Given the description of an element on the screen output the (x, y) to click on. 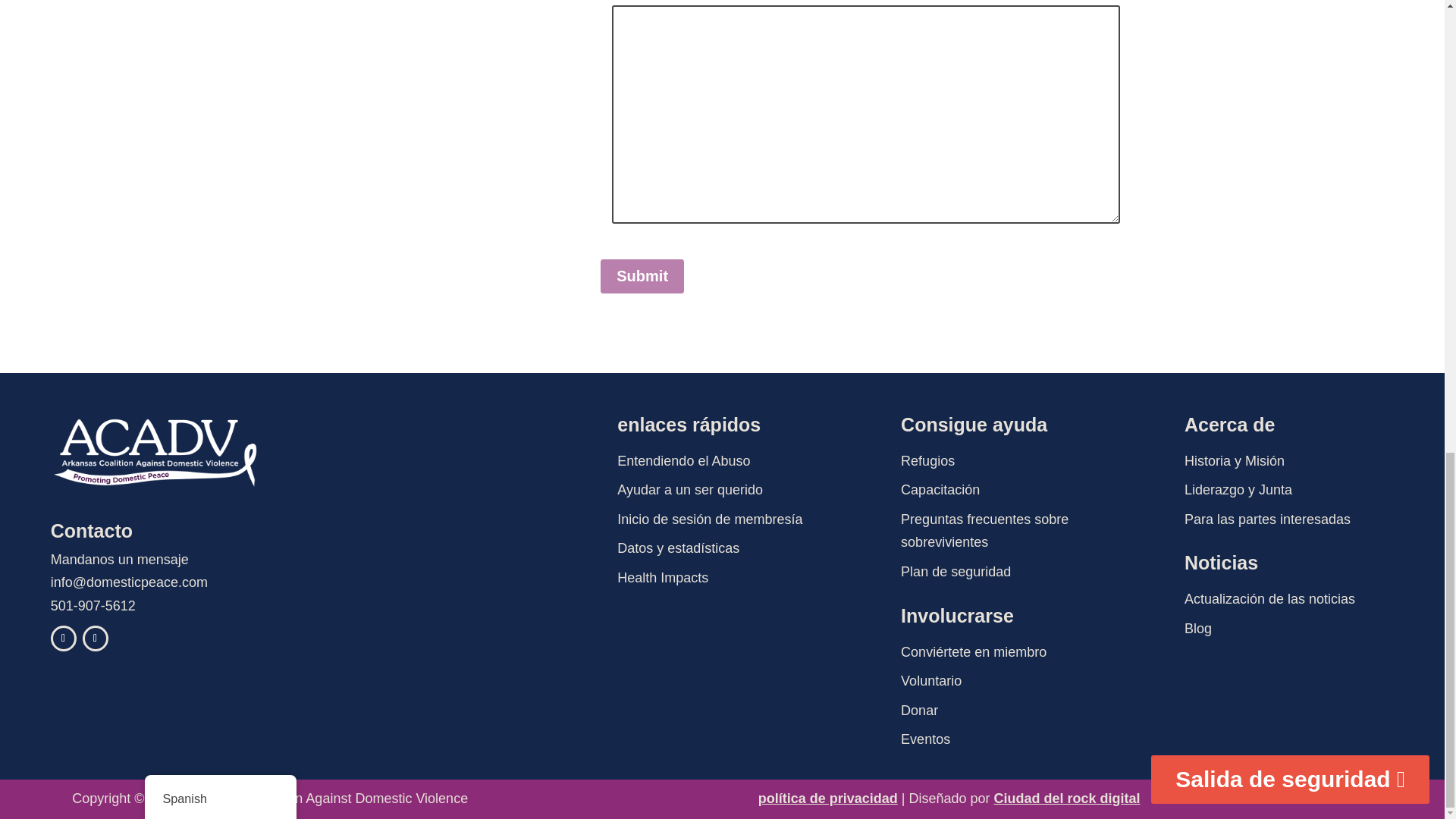
Submit (641, 276)
Logo ACADV 2022 blanco claro (155, 452)
Sigue en Instagram (94, 638)
Sigue en Facebook (63, 638)
